Given the description of an element on the screen output the (x, y) to click on. 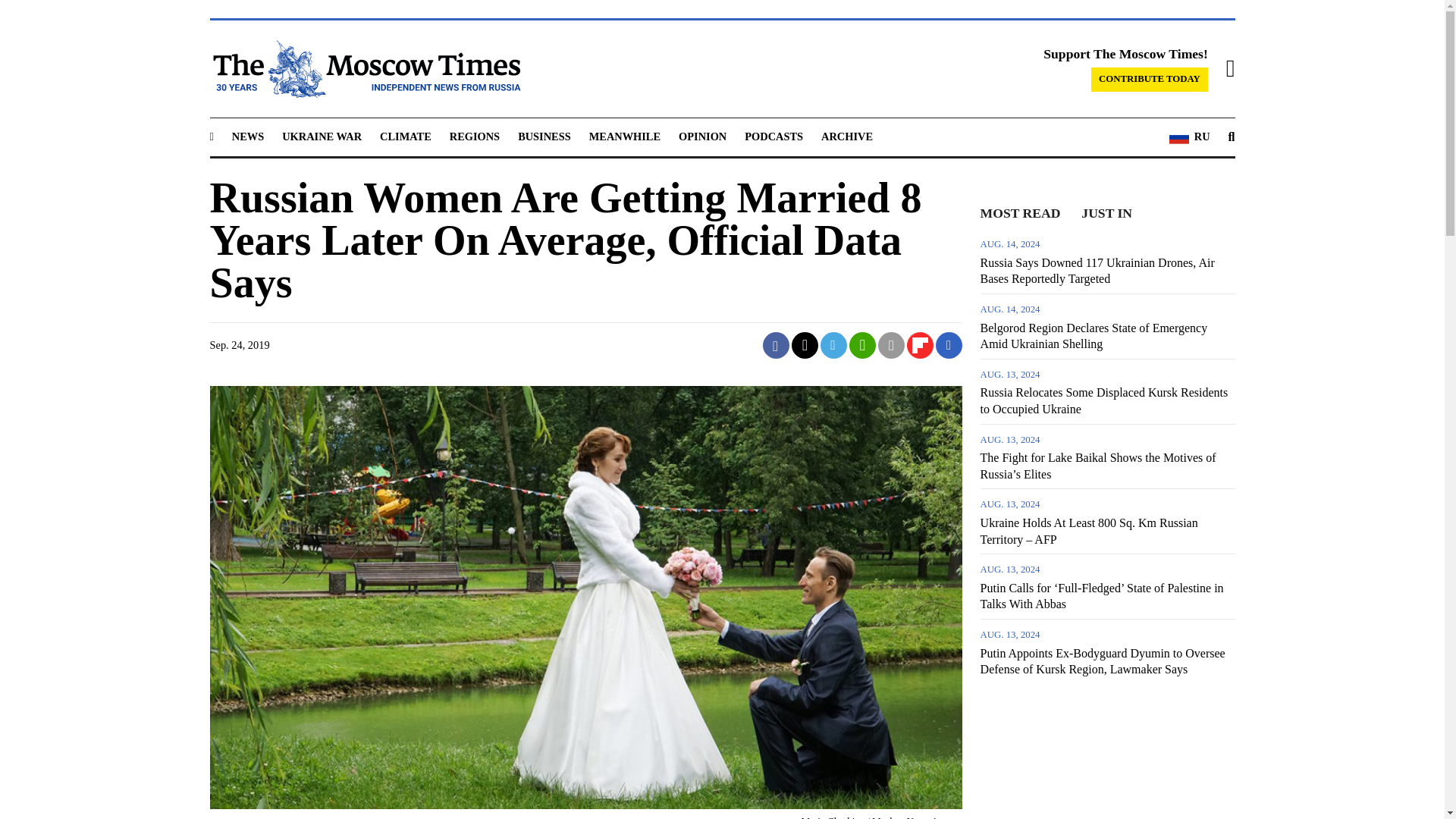
UKRAINE WAR (321, 136)
CLIMATE (405, 136)
OPINION (702, 136)
CONTRIBUTE TODAY (1149, 79)
NEWS (247, 136)
Share on Telegram (834, 345)
The Moscow Times - Independent News from Russia (364, 68)
MEANWHILE (625, 136)
REGIONS (474, 136)
Share on Flipboard (920, 345)
